Given the description of an element on the screen output the (x, y) to click on. 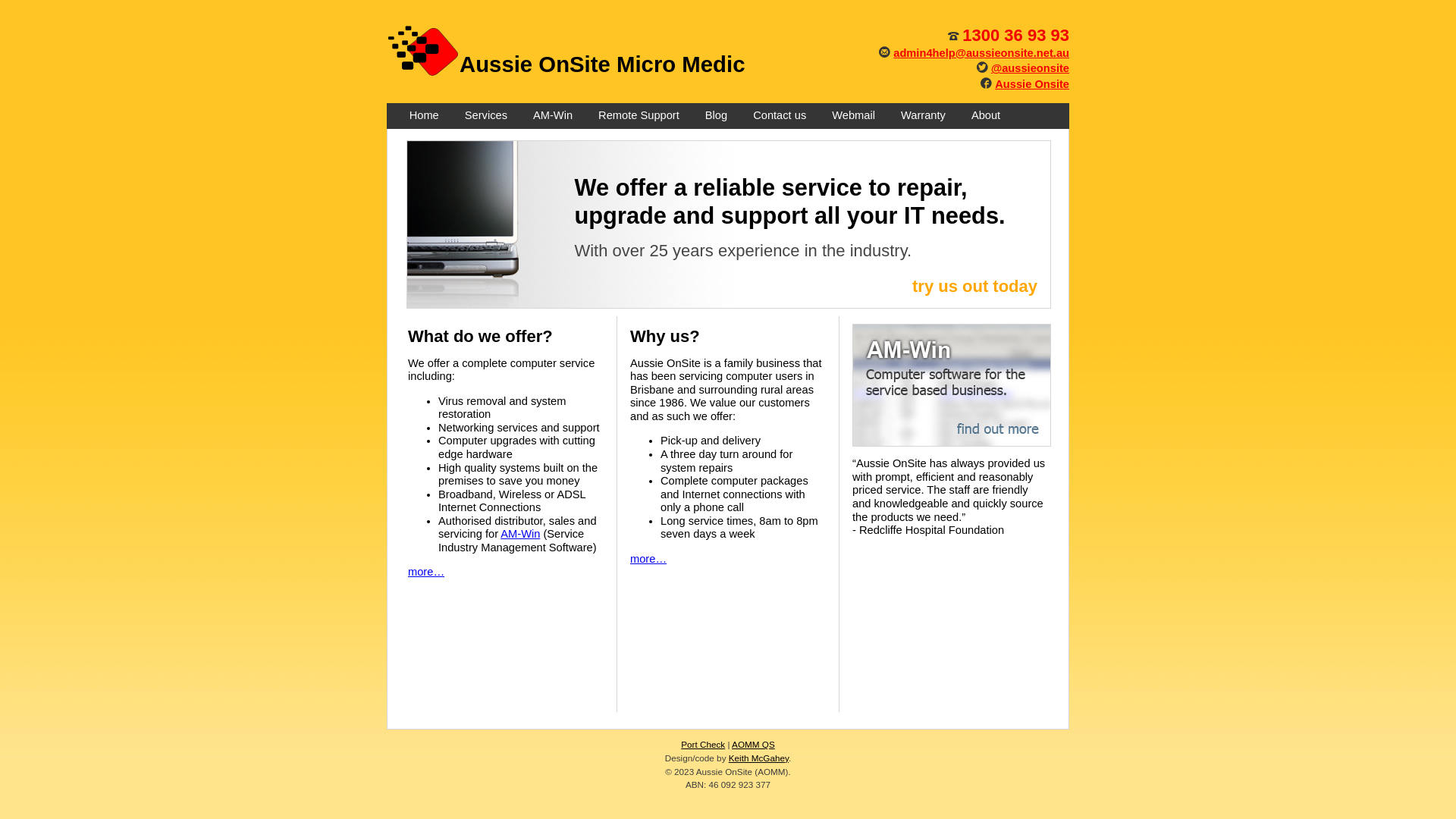
Webmail Element type: text (853, 115)
Services Element type: text (485, 115)
Contact us Element type: text (779, 115)
Remote Support Element type: text (638, 115)
Blog Element type: text (715, 115)
Warranty Element type: text (923, 115)
AM-Win Element type: text (519, 533)
AOMM QS Element type: text (753, 744)
try us out today Element type: text (974, 285)
About Element type: text (985, 115)
Keith McGahey Element type: text (758, 757)
@aussieonsite Element type: text (1030, 68)
Port Check Element type: text (702, 744)
admin4help@aussieonsite.net.au Element type: text (981, 53)
AM-Win Element type: text (552, 115)
Home Element type: text (424, 115)
Aussie Onsite Element type: text (1031, 84)
